Given the description of an element on the screen output the (x, y) to click on. 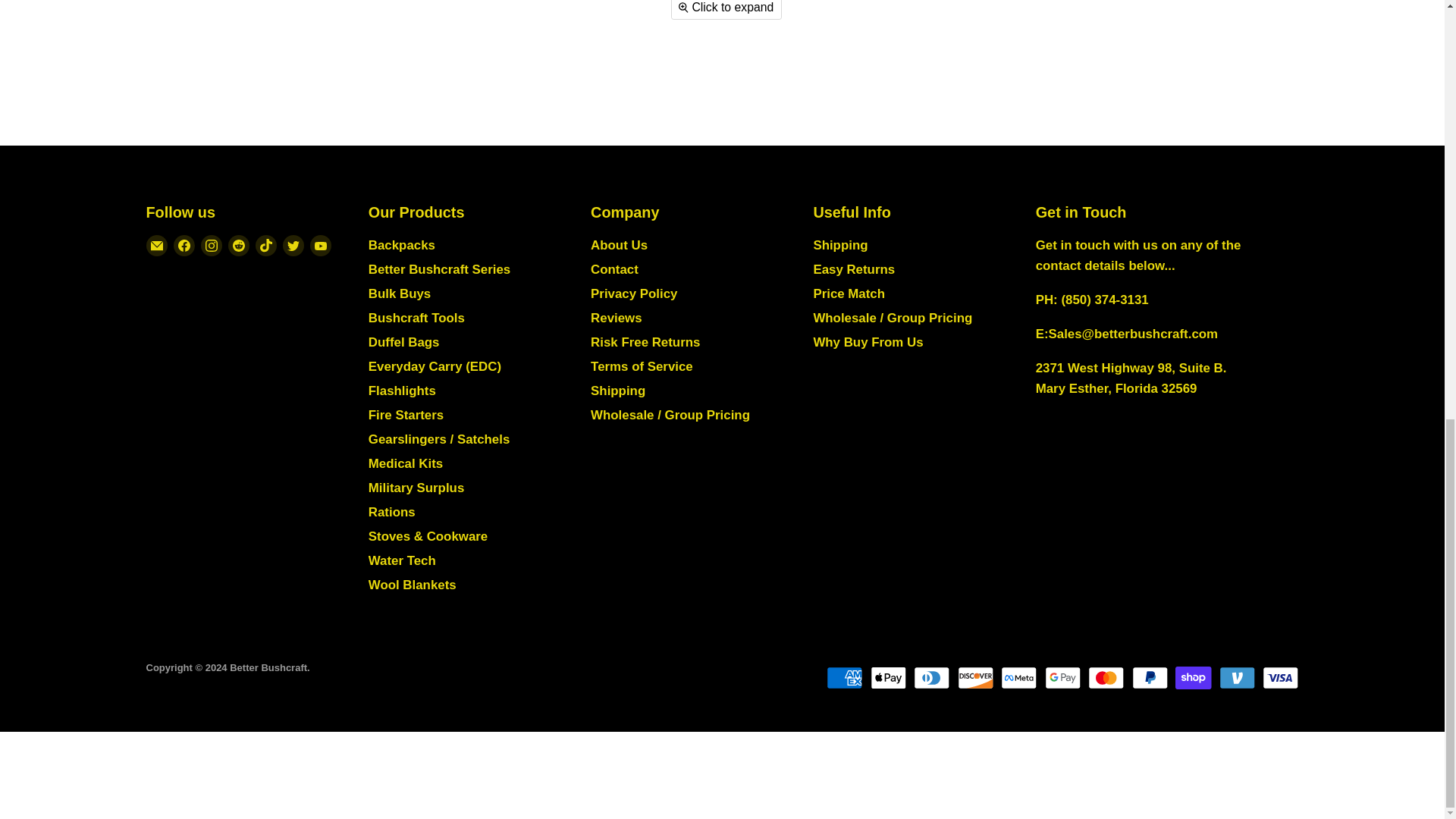
TikTok (265, 245)
Twitter (292, 245)
Facebook (183, 245)
YouTube (319, 245)
Reddit (237, 245)
E-mail (156, 245)
Instagram (210, 245)
